Given the description of an element on the screen output the (x, y) to click on. 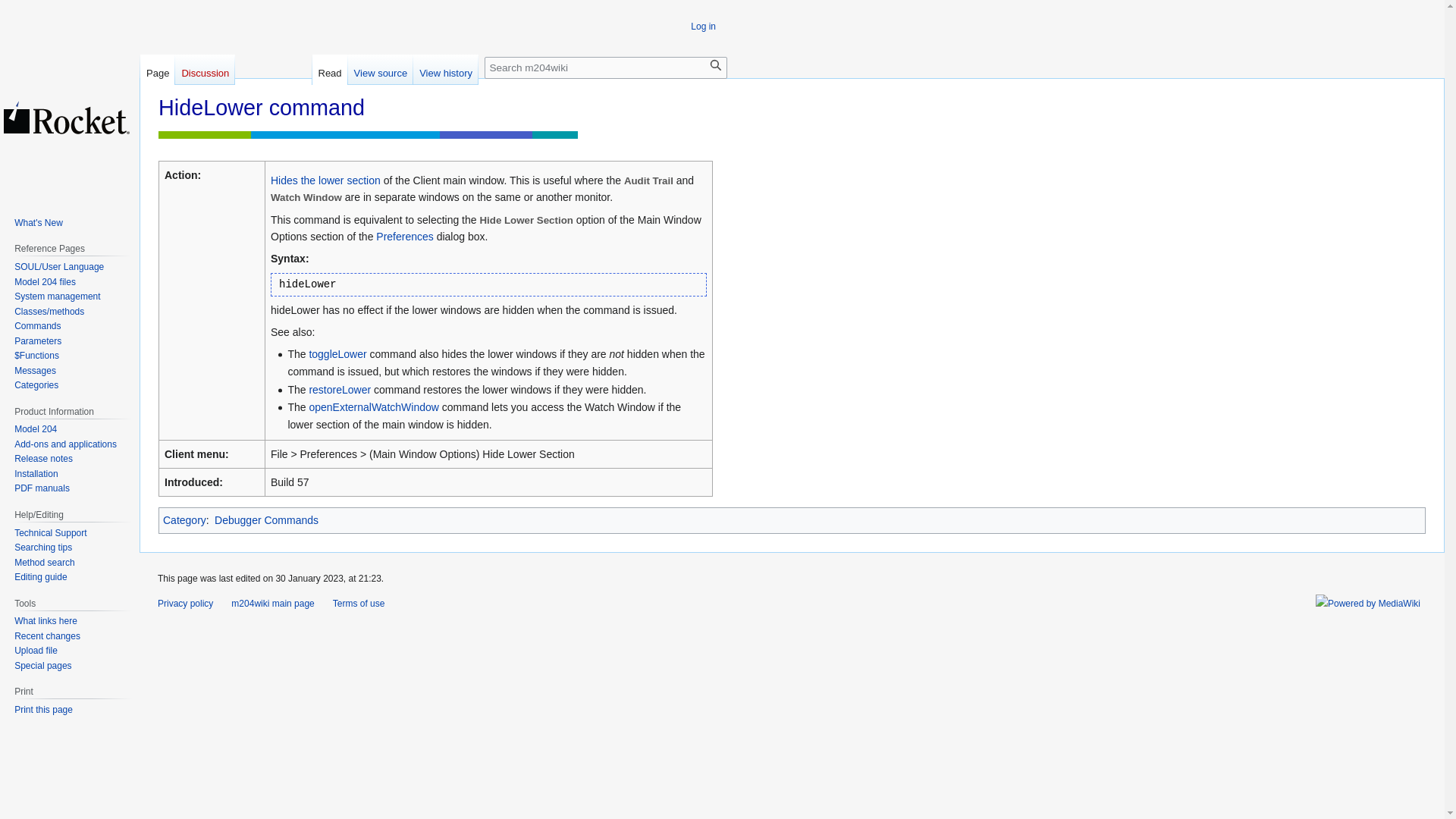
Release notes (43, 458)
Search (715, 64)
Commands (37, 326)
restoreLower (339, 389)
Messages (35, 370)
Search (715, 64)
Discussion (204, 69)
Editing guide (40, 576)
Visit the main page (66, 117)
What's New (38, 222)
